Given the description of an element on the screen output the (x, y) to click on. 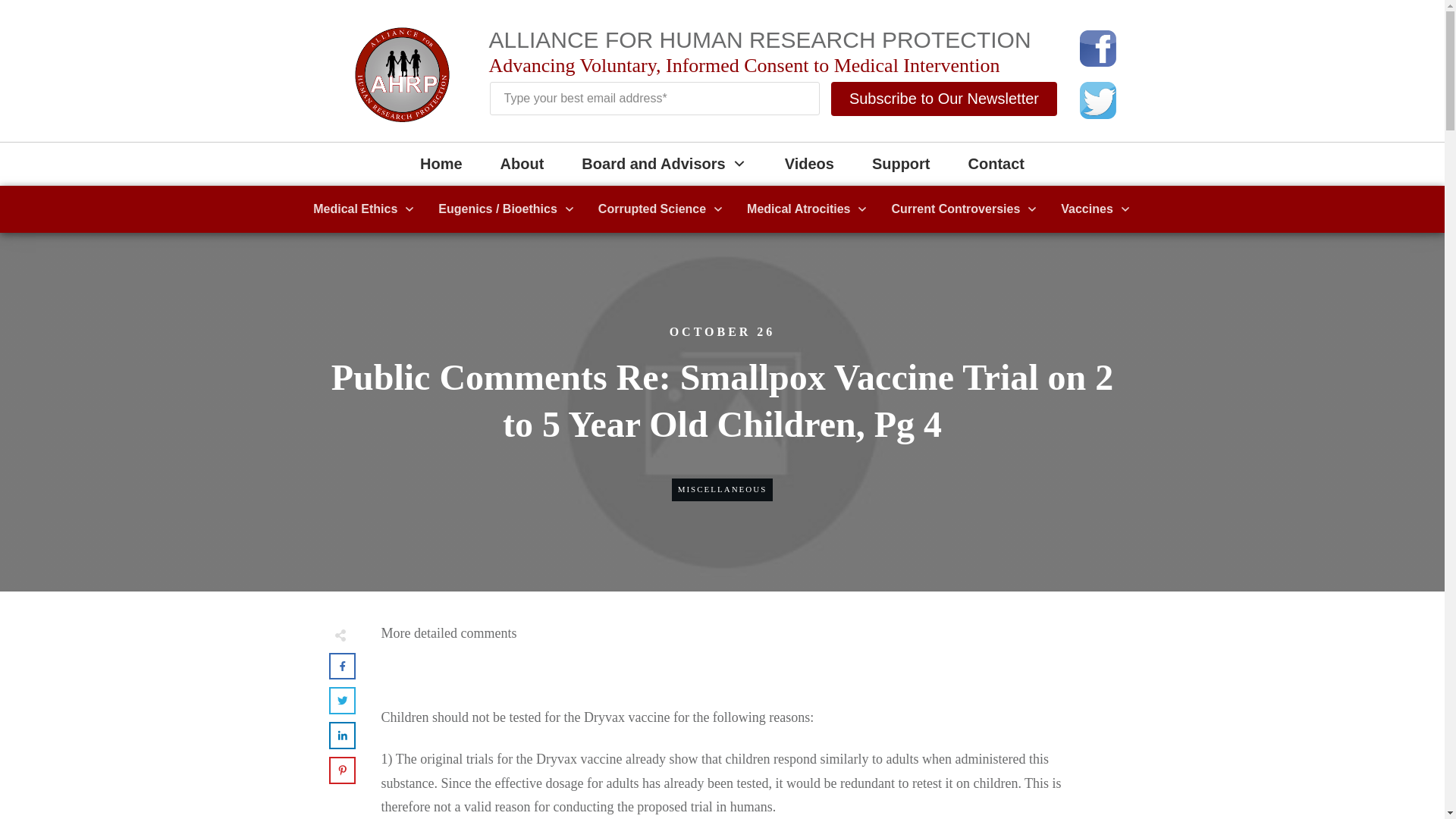
Medical Ethics (363, 209)
Corrupted Science (660, 209)
Medical Ethics (363, 209)
Subscribe to Our Newsletter (944, 98)
Home (441, 163)
facebook-logo (1098, 48)
twitter-logo (1098, 99)
Videos (809, 163)
Contact (996, 163)
Support (901, 163)
